Given the description of an element on the screen output the (x, y) to click on. 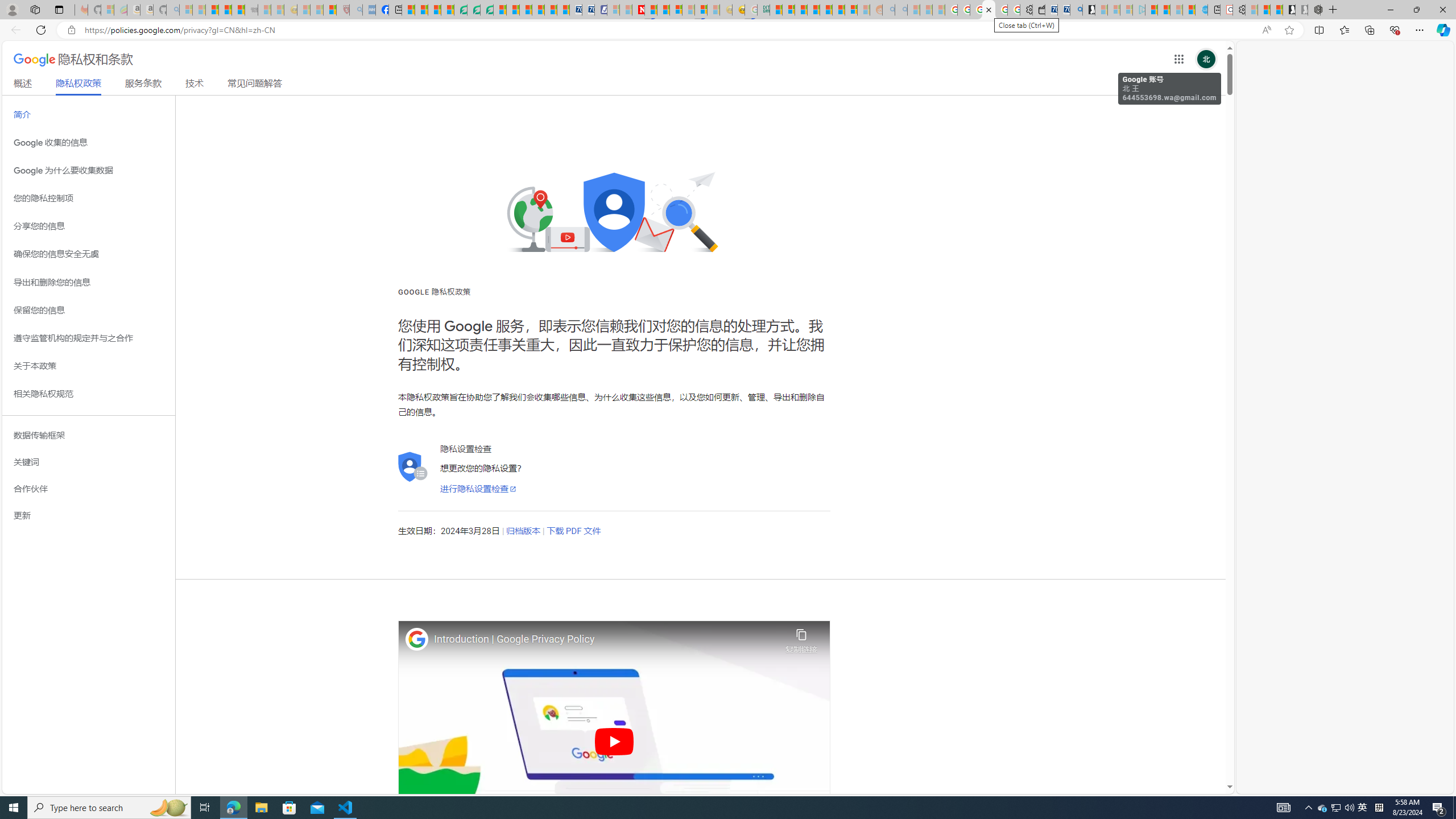
Class: gb_E (1178, 59)
